Given the description of an element on the screen output the (x, y) to click on. 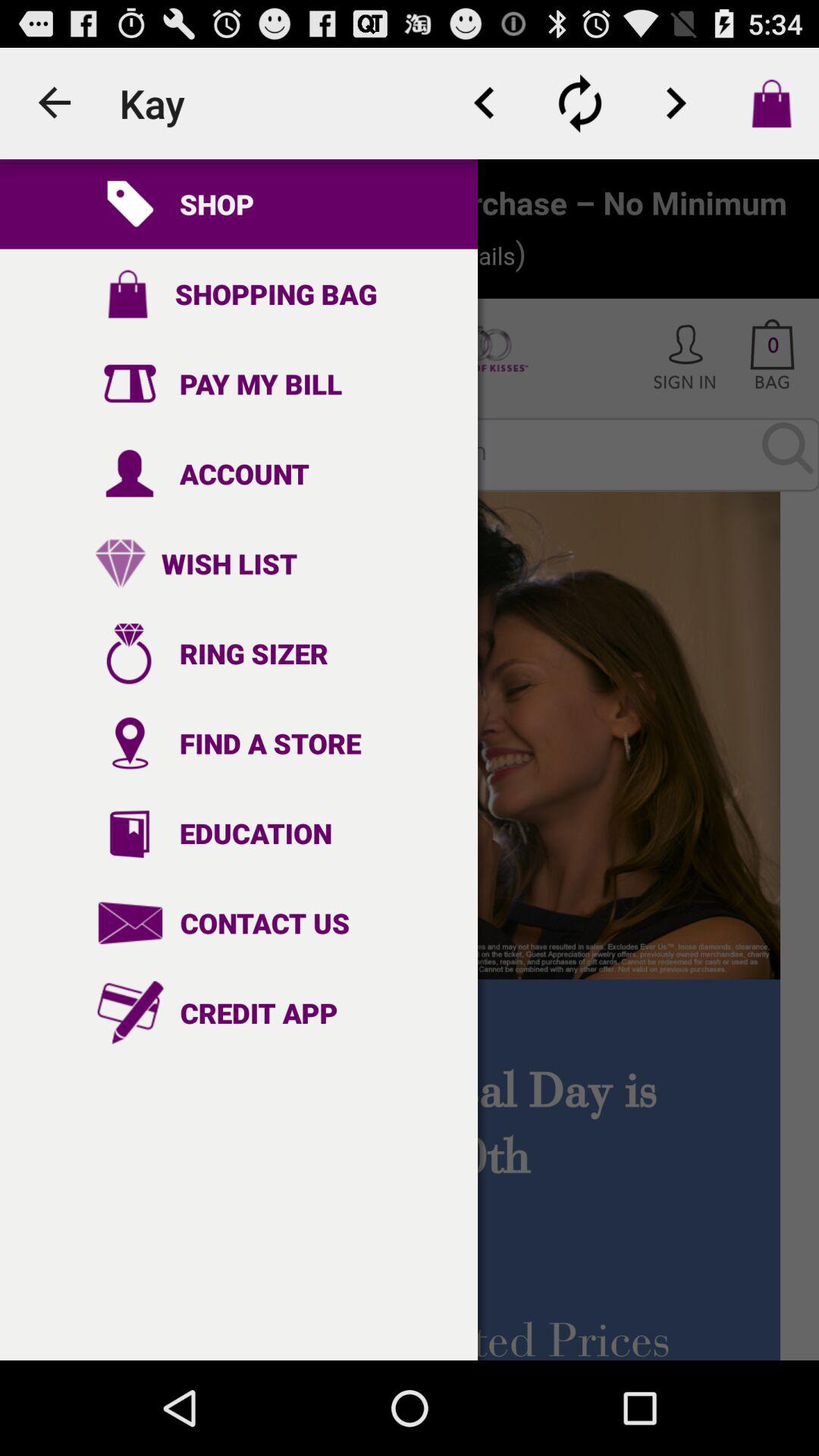
button for next item (675, 103)
